Given the description of an element on the screen output the (x, y) to click on. 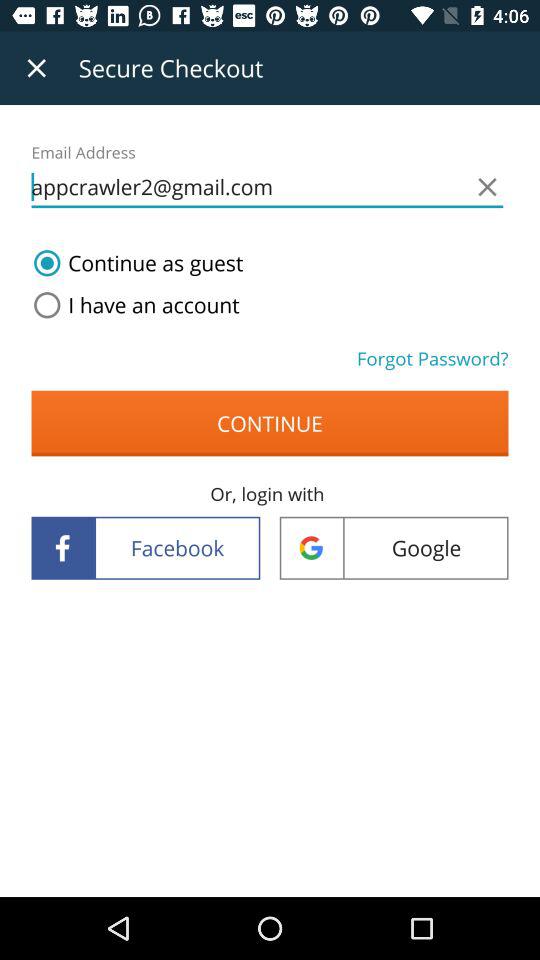
open the continue as guest item (134, 263)
